Given the description of an element on the screen output the (x, y) to click on. 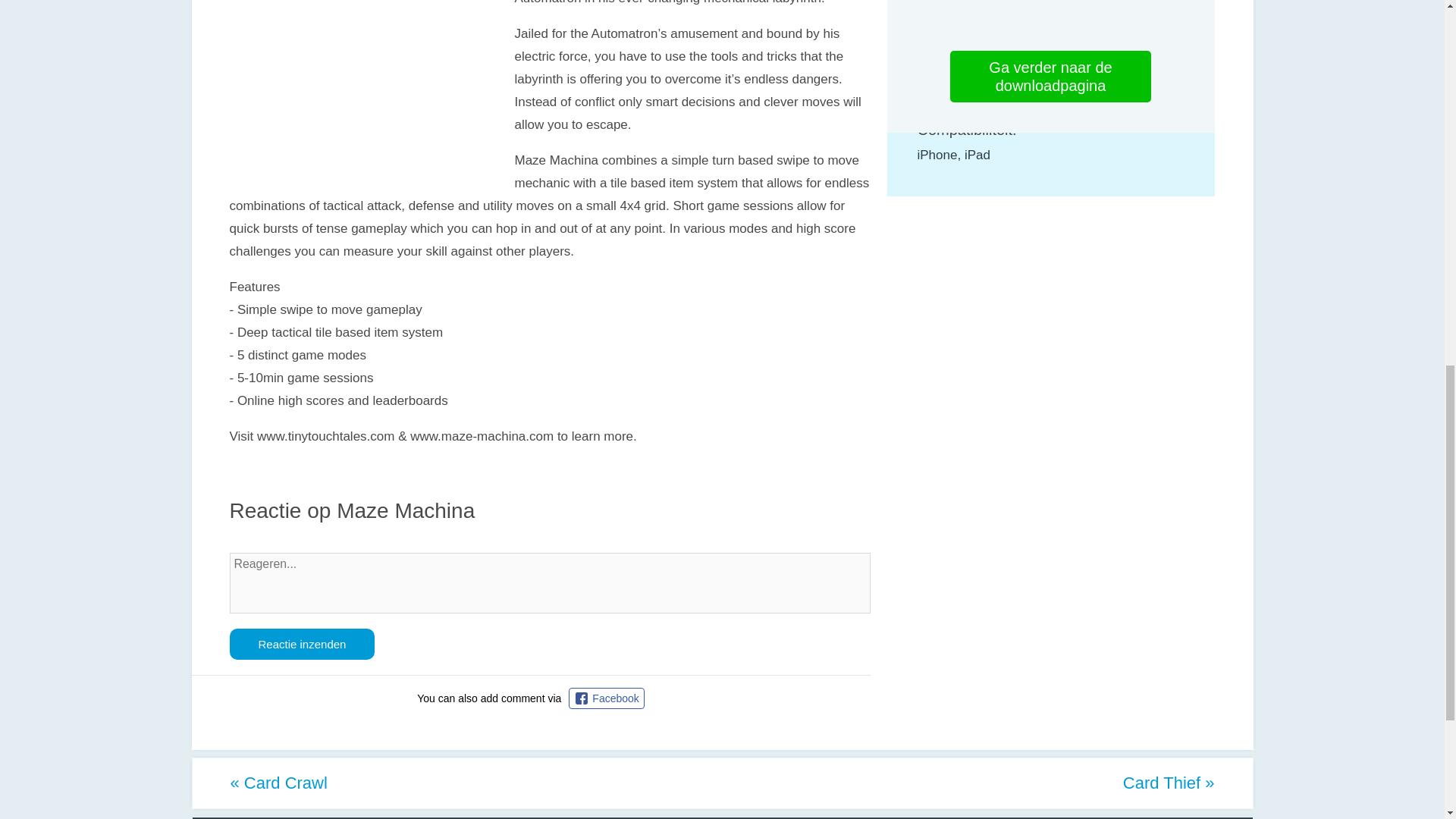
Ga verder naar de downloadpagina (1050, 76)
Reactie inzenden (301, 644)
Reactie inzenden (301, 644)
Advertisement (355, 91)
